Given the description of an element on the screen output the (x, y) to click on. 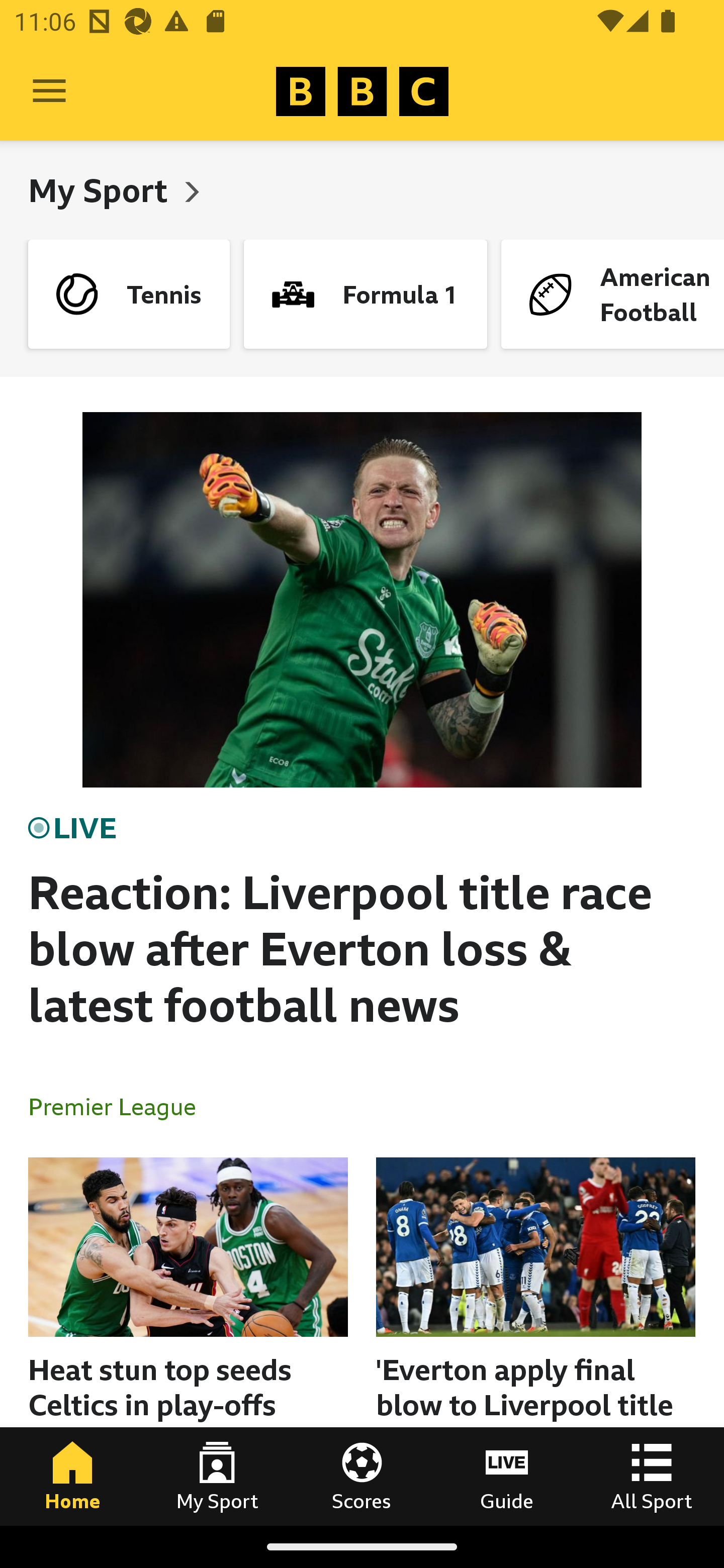
Open Menu (49, 91)
My Sport (101, 190)
Premier League In the section Premier League (119, 1106)
My Sport (216, 1475)
Scores (361, 1475)
Guide (506, 1475)
All Sport (651, 1475)
